Given the description of an element on the screen output the (x, y) to click on. 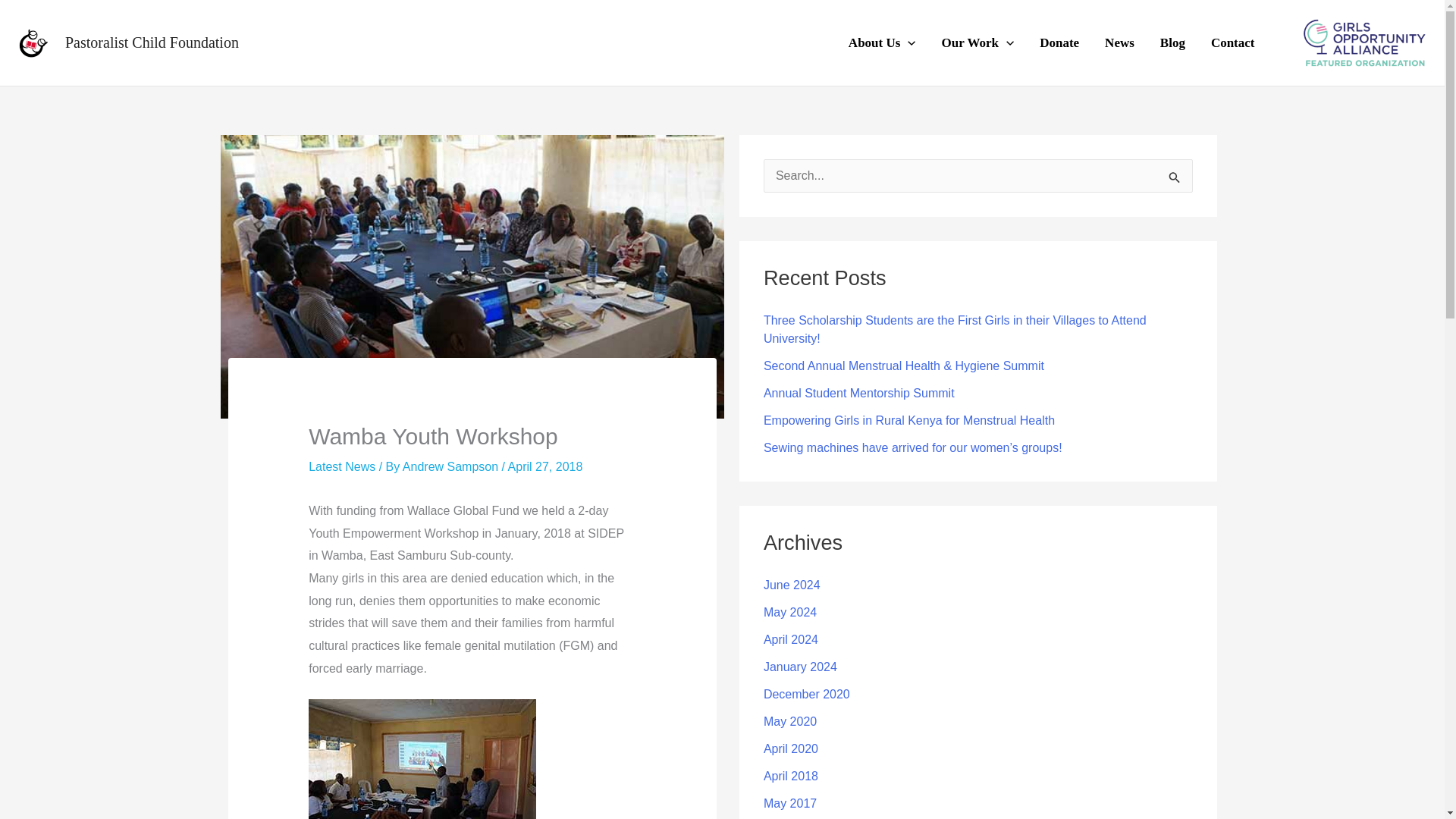
About Us (881, 43)
Our Work (977, 43)
Donate (1059, 43)
Contact (1233, 43)
News (1119, 43)
View all posts by Andrew Sampson (452, 466)
Pastoralist Child Foundation (151, 42)
